Given the description of an element on the screen output the (x, y) to click on. 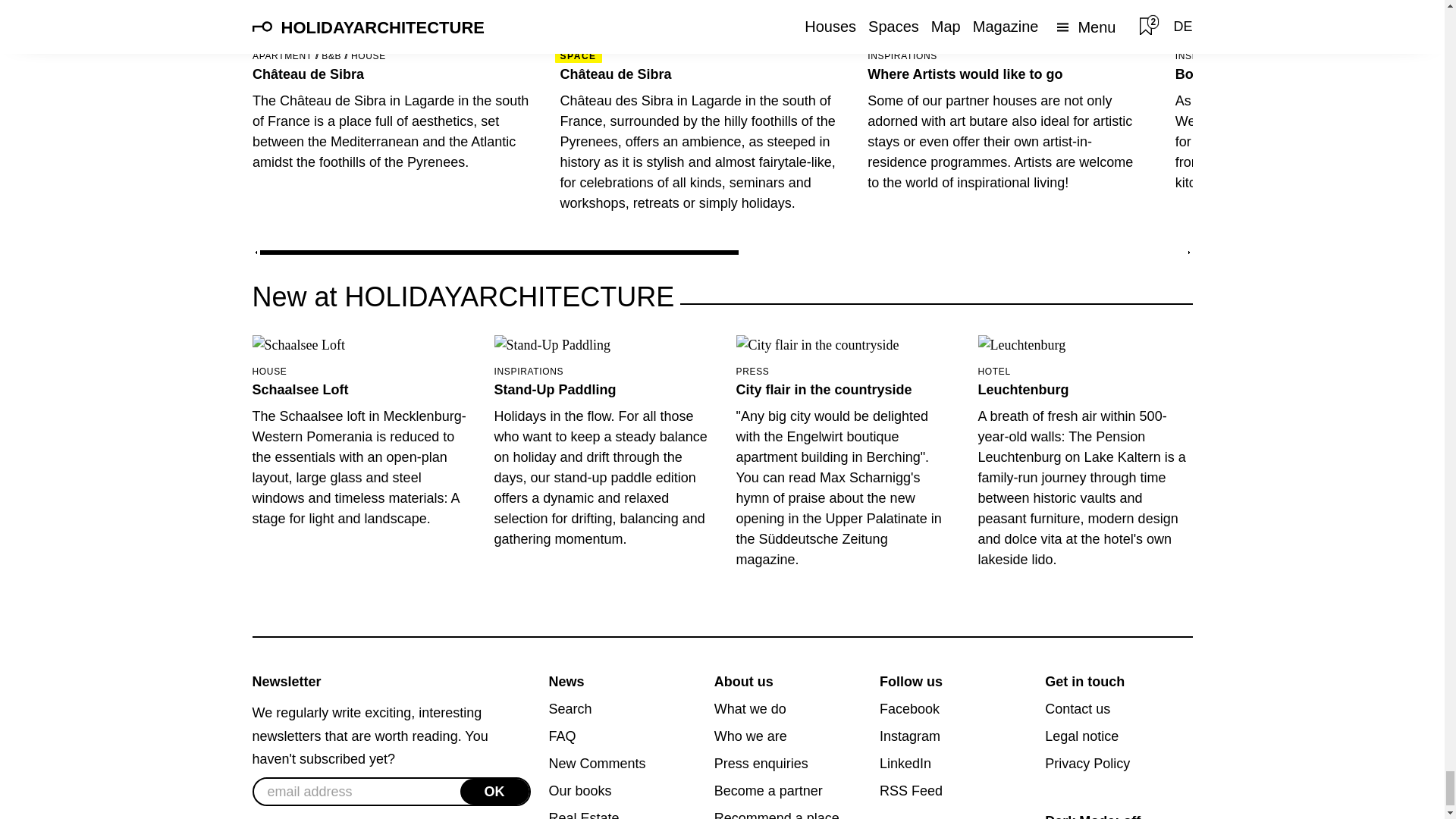
OK (494, 791)
